Given the description of an element on the screen output the (x, y) to click on. 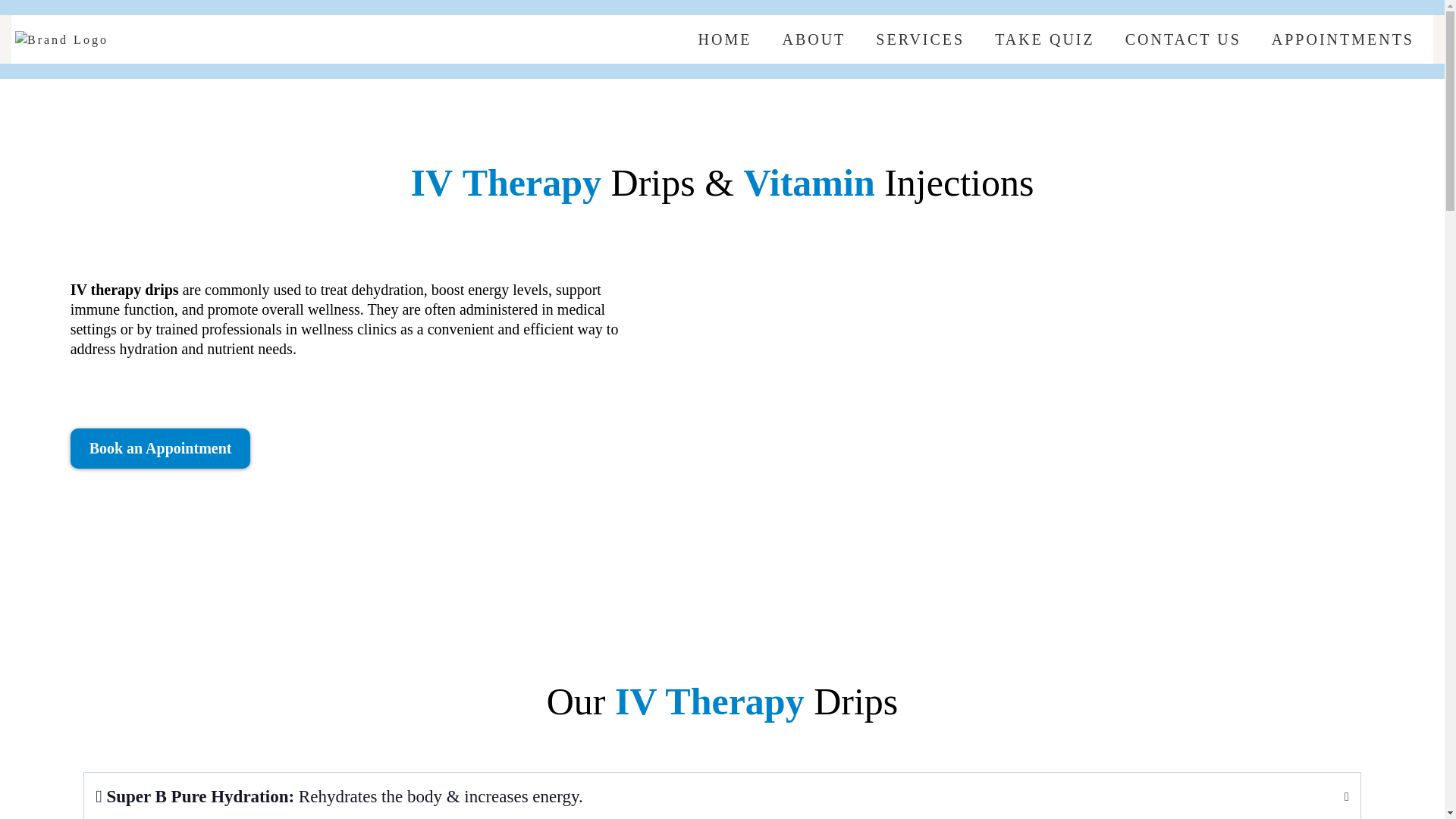
Book an Appointment (159, 448)
SERVICES (919, 39)
HOME (724, 39)
CONTACT US (1182, 39)
APPOINTMENTS (1342, 39)
ABOUT (813, 39)
TAKE QUIZ (1044, 39)
